Given the description of an element on the screen output the (x, y) to click on. 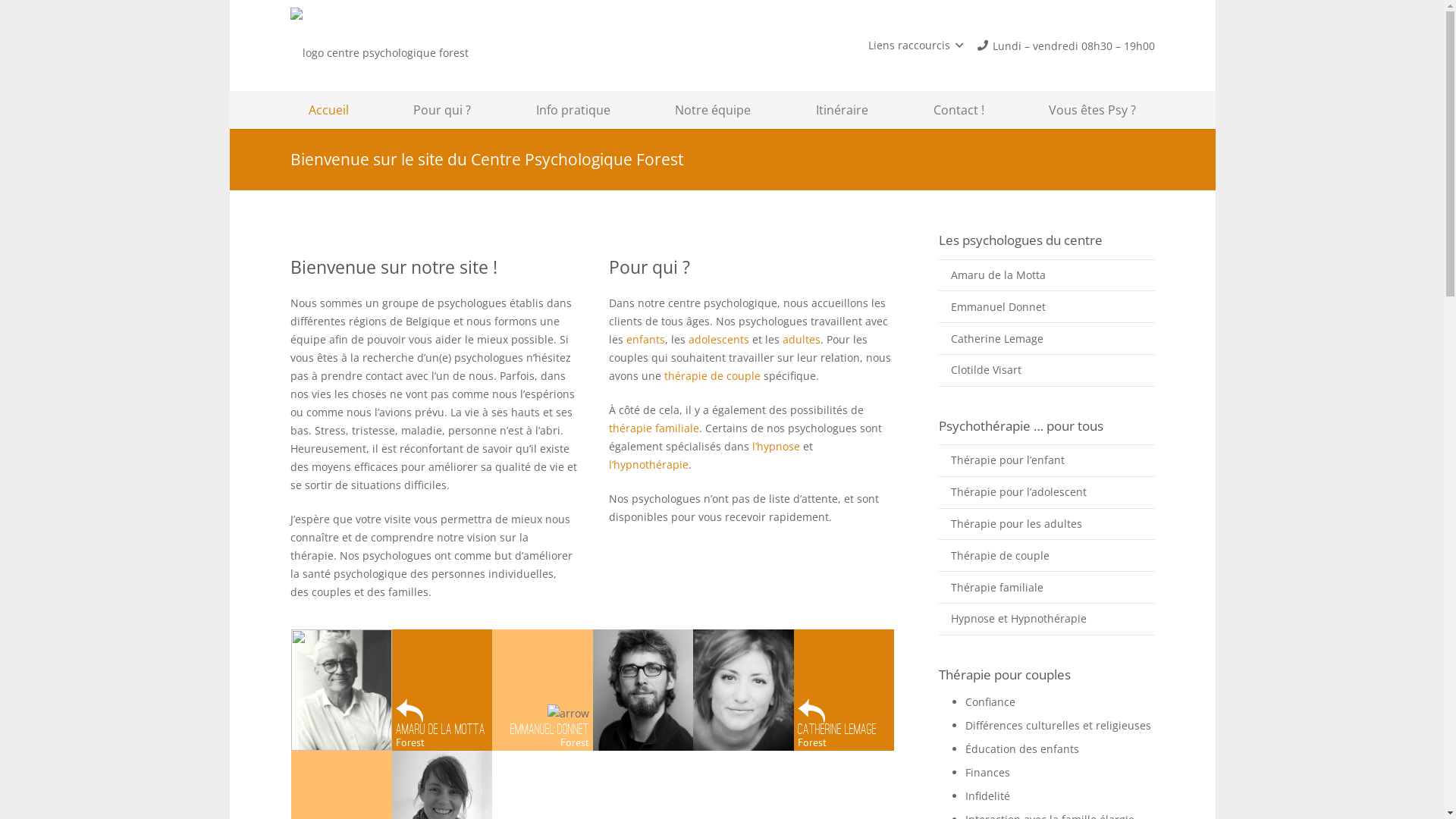
adolescents Element type: text (720, 339)
adultes Element type: text (801, 339)
Clotilde Visart Element type: text (1046, 369)
Emmanuel Donnet Element type: text (1046, 306)
Accueil Element type: text (327, 109)
Contact ! Element type: text (958, 109)
Catherine Lemage Element type: text (1046, 338)
Liens raccourcis Element type: text (915, 45)
Pour qui ? Element type: text (442, 109)
enfants Element type: text (645, 339)
Info pratique Element type: text (572, 109)
Amaru de la Motta Element type: text (1046, 275)
